Given the description of an element on the screen output the (x, y) to click on. 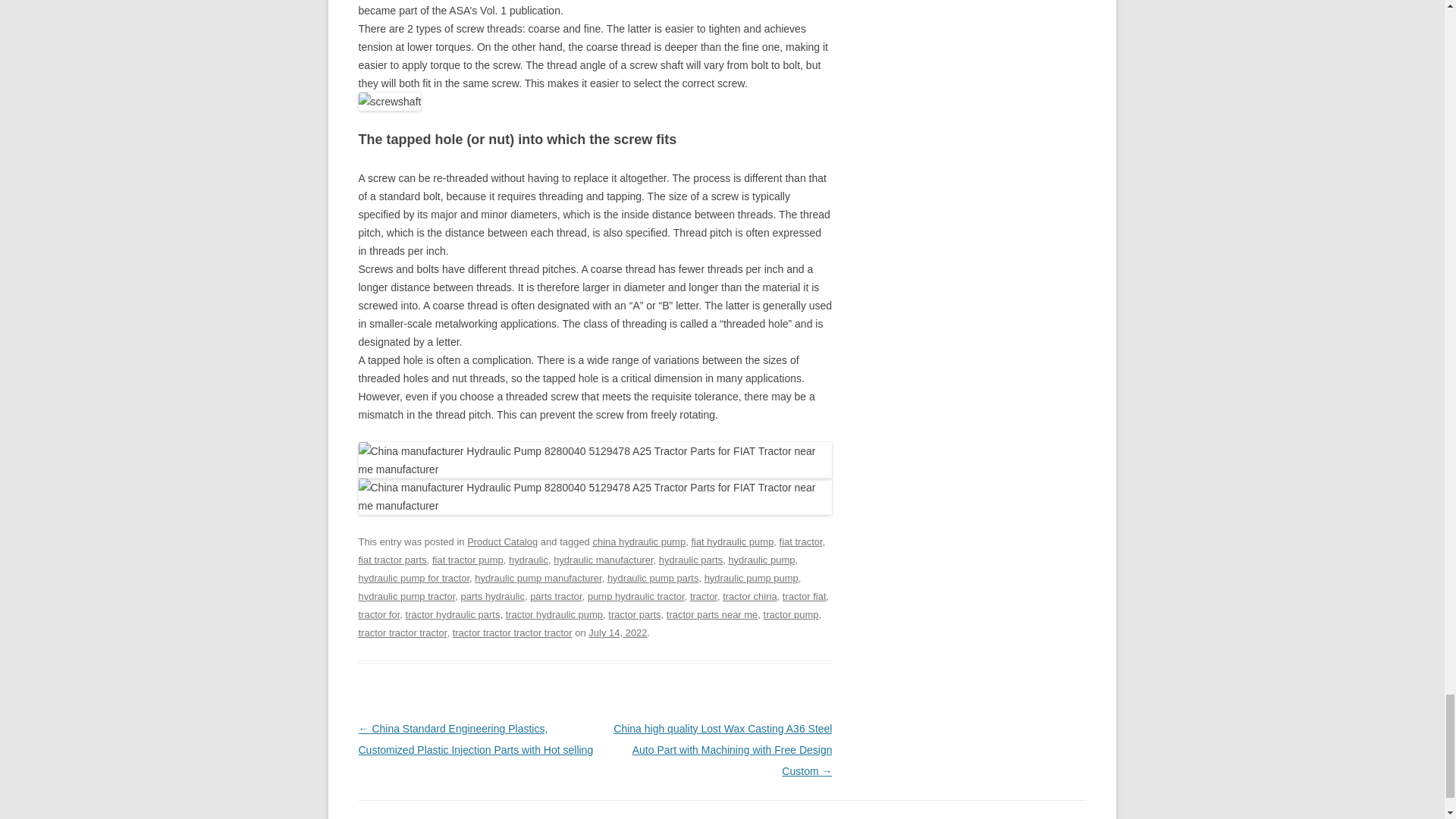
tractor tractor tractor tractor (512, 632)
Product Catalog (502, 541)
hydraulic pump parts (652, 577)
tractor tractor tractor (402, 632)
hydraulic pump (761, 559)
hydraulic pump for tractor (413, 577)
pump hydraulic tractor (636, 595)
July 14, 2022 (617, 632)
tractor parts (634, 614)
fiat tractor parts (392, 559)
parts tractor (555, 595)
hydraulic manufacturer (602, 559)
china hydraulic pump (638, 541)
tractor (703, 595)
tractor for (378, 614)
